Given the description of an element on the screen output the (x, y) to click on. 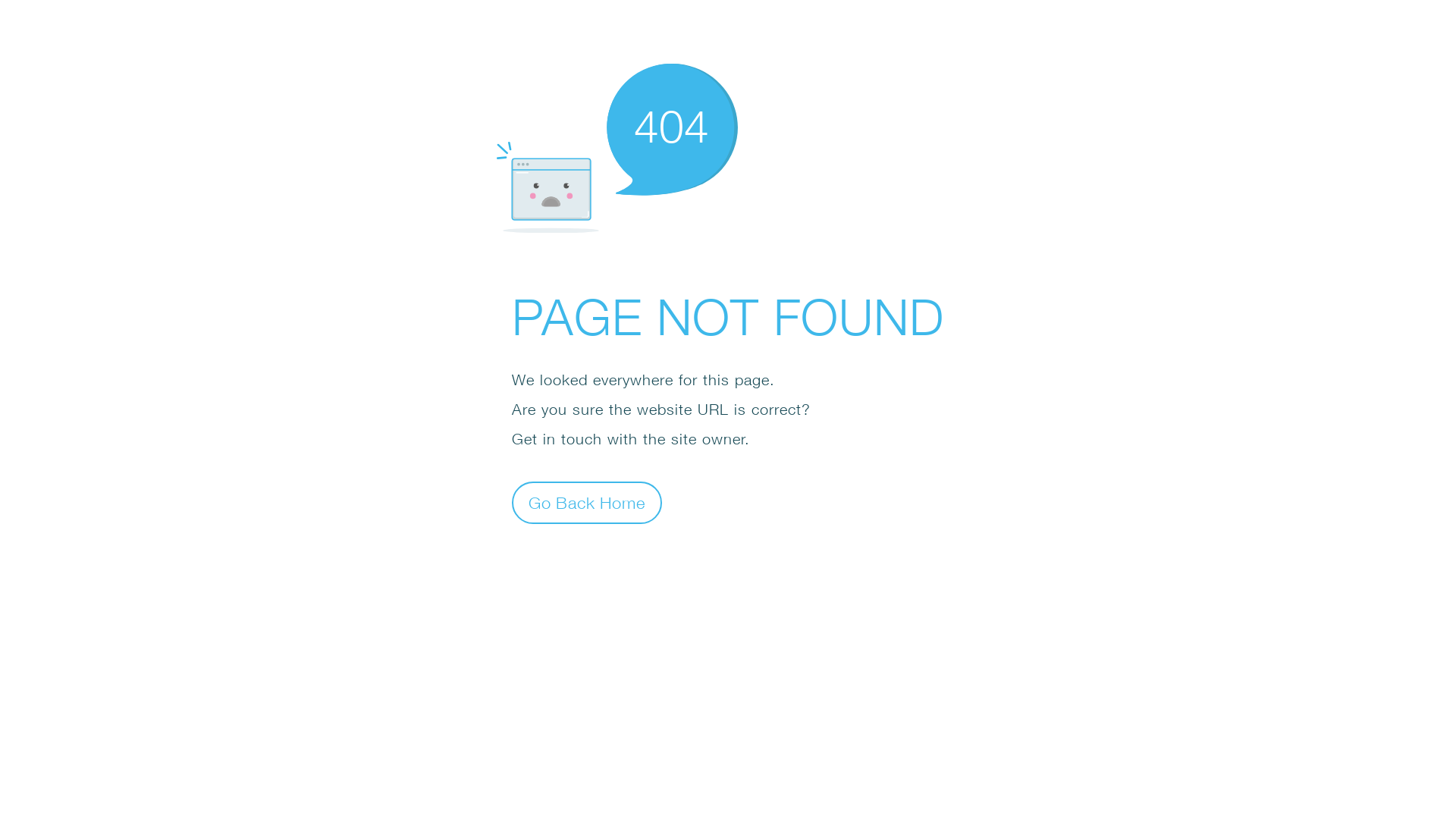
Go Back Home Element type: text (586, 502)
